Given the description of an element on the screen output the (x, y) to click on. 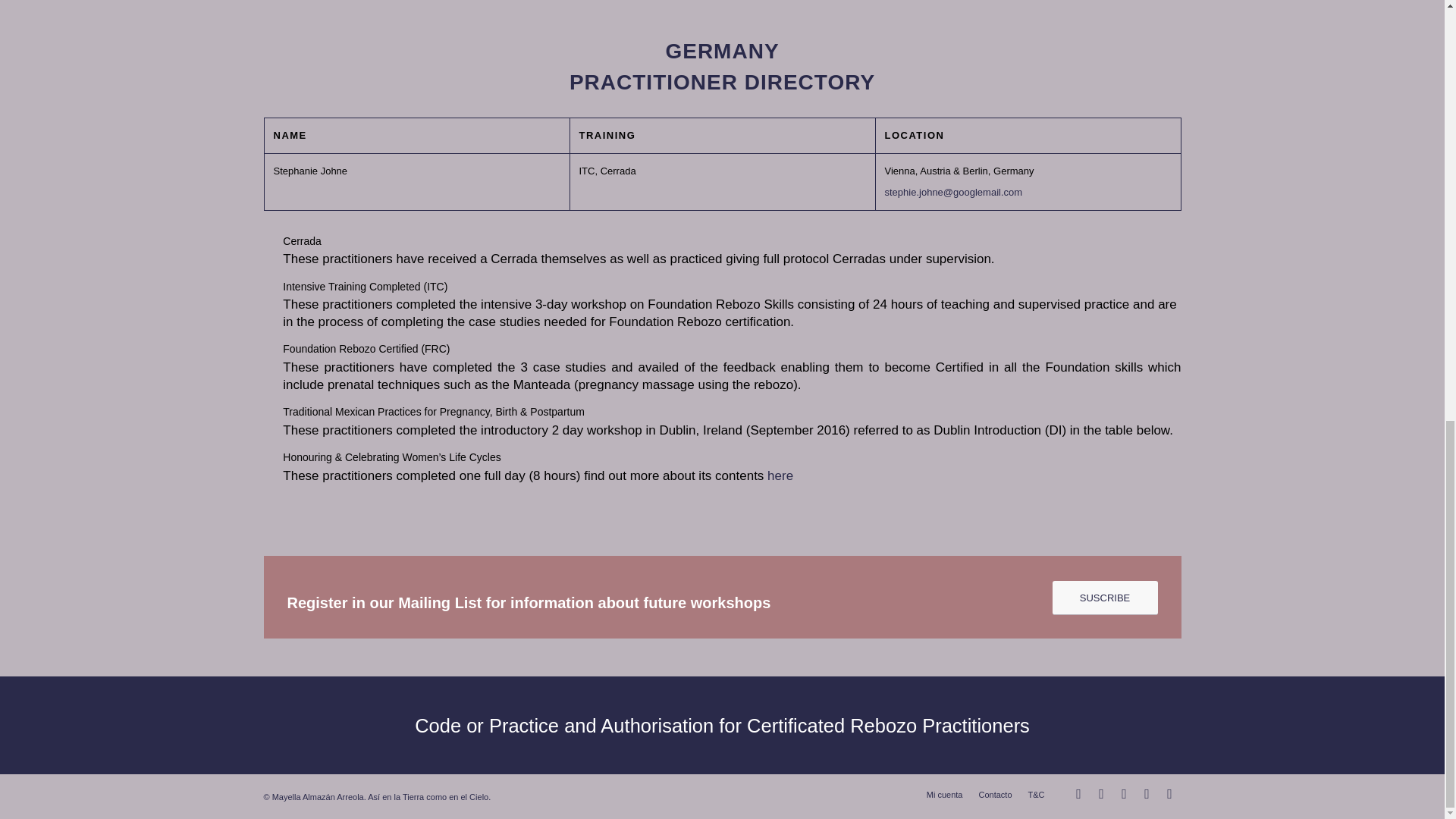
here (780, 475)
SUSCRIBE (1104, 597)
Mi cuenta (944, 794)
Contacto (994, 794)
